Given the description of an element on the screen output the (x, y) to click on. 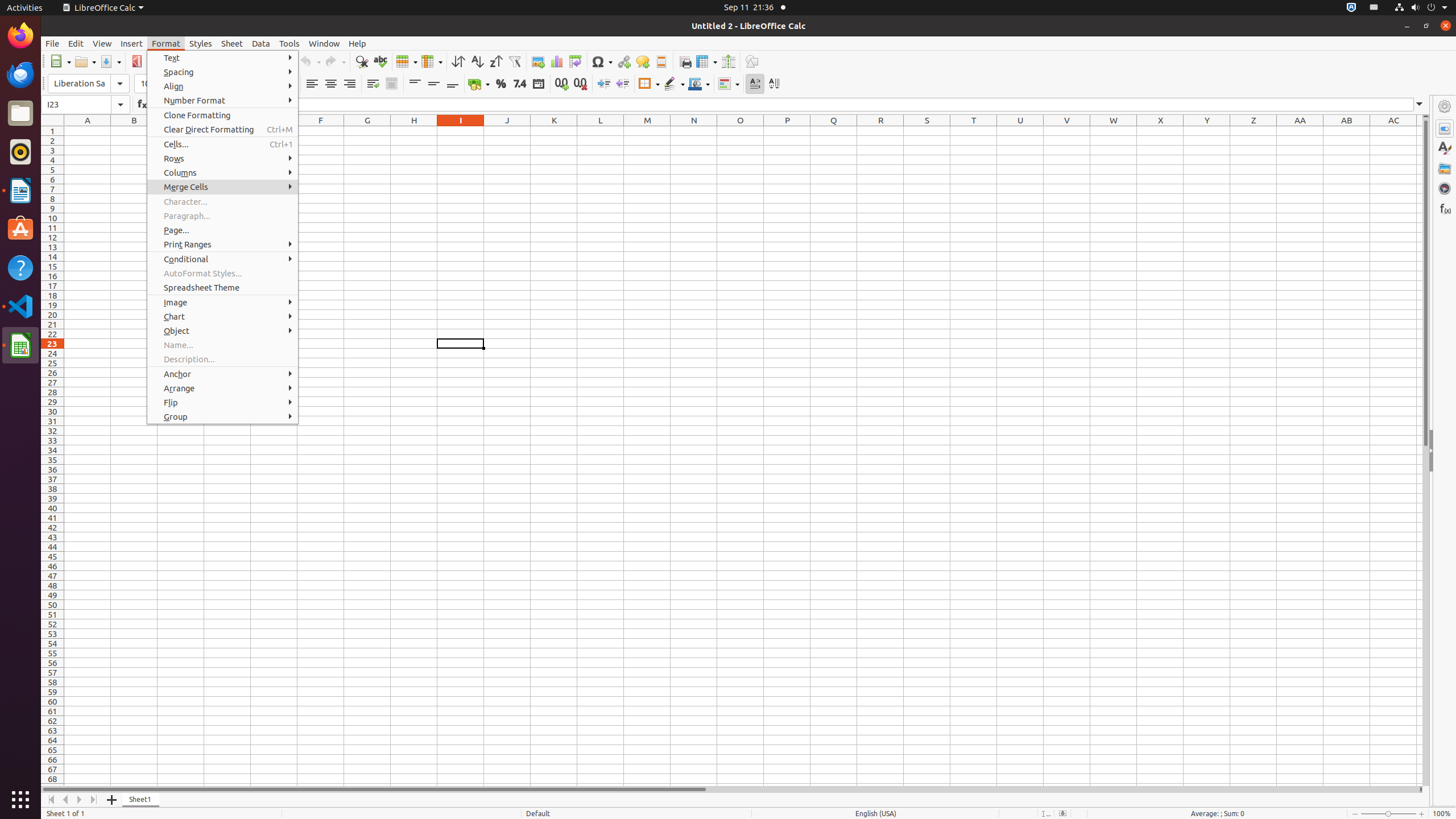
A1 Element type: table-cell (87, 130)
W1 Element type: table-cell (1113, 130)
Image Element type: push-button (537, 61)
Row Element type: push-button (406, 61)
